Given the description of an element on the screen output the (x, y) to click on. 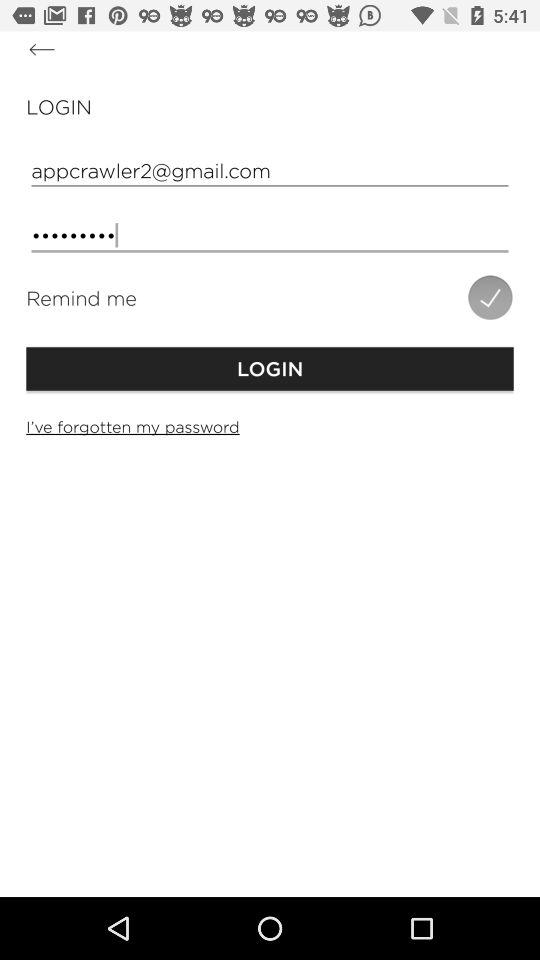
jump to the crowd3116 (269, 235)
